Given the description of an element on the screen output the (x, y) to click on. 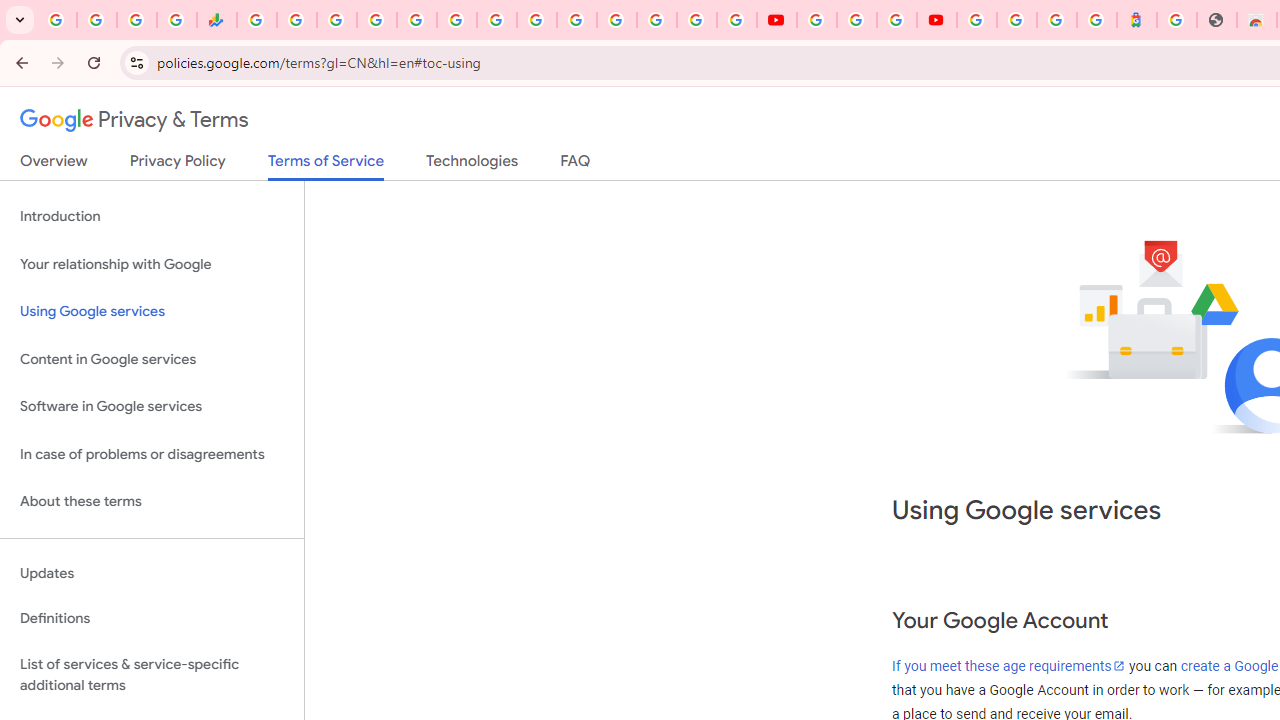
Overview (54, 165)
Create your Google Account (896, 20)
YouTube (817, 20)
Content in Google services (152, 358)
FAQ (575, 165)
Using Google services (152, 312)
